Given the description of an element on the screen output the (x, y) to click on. 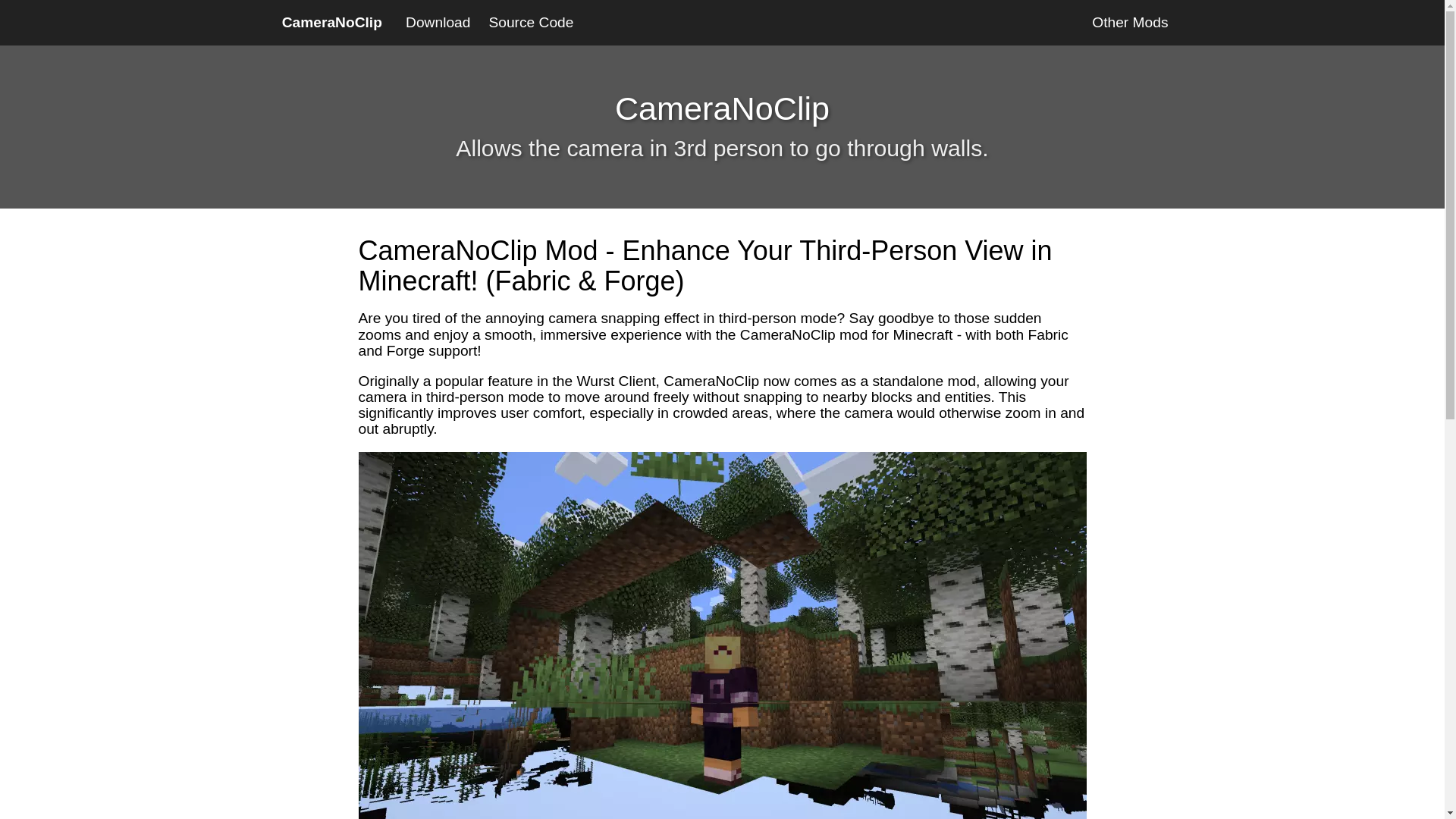
CameraNoClip (331, 22)
Other Mods (1129, 22)
Download (437, 22)
Source Code (530, 22)
